Given the description of an element on the screen output the (x, y) to click on. 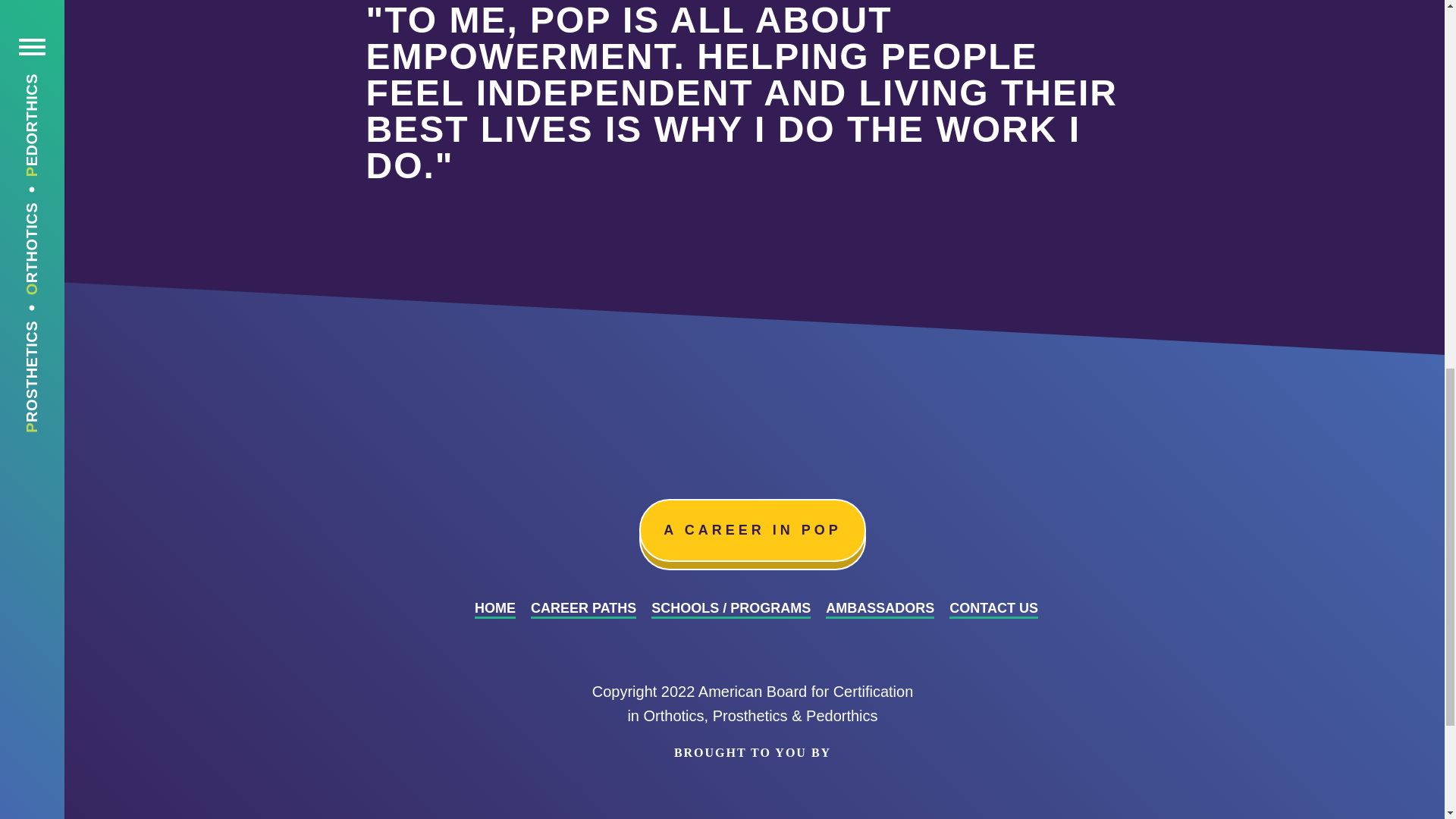
CONTACT US (993, 609)
CAREER PATHS (583, 609)
A CAREER IN POP (751, 529)
HOME (494, 609)
AMBASSADORS (879, 609)
